Given the description of an element on the screen output the (x, y) to click on. 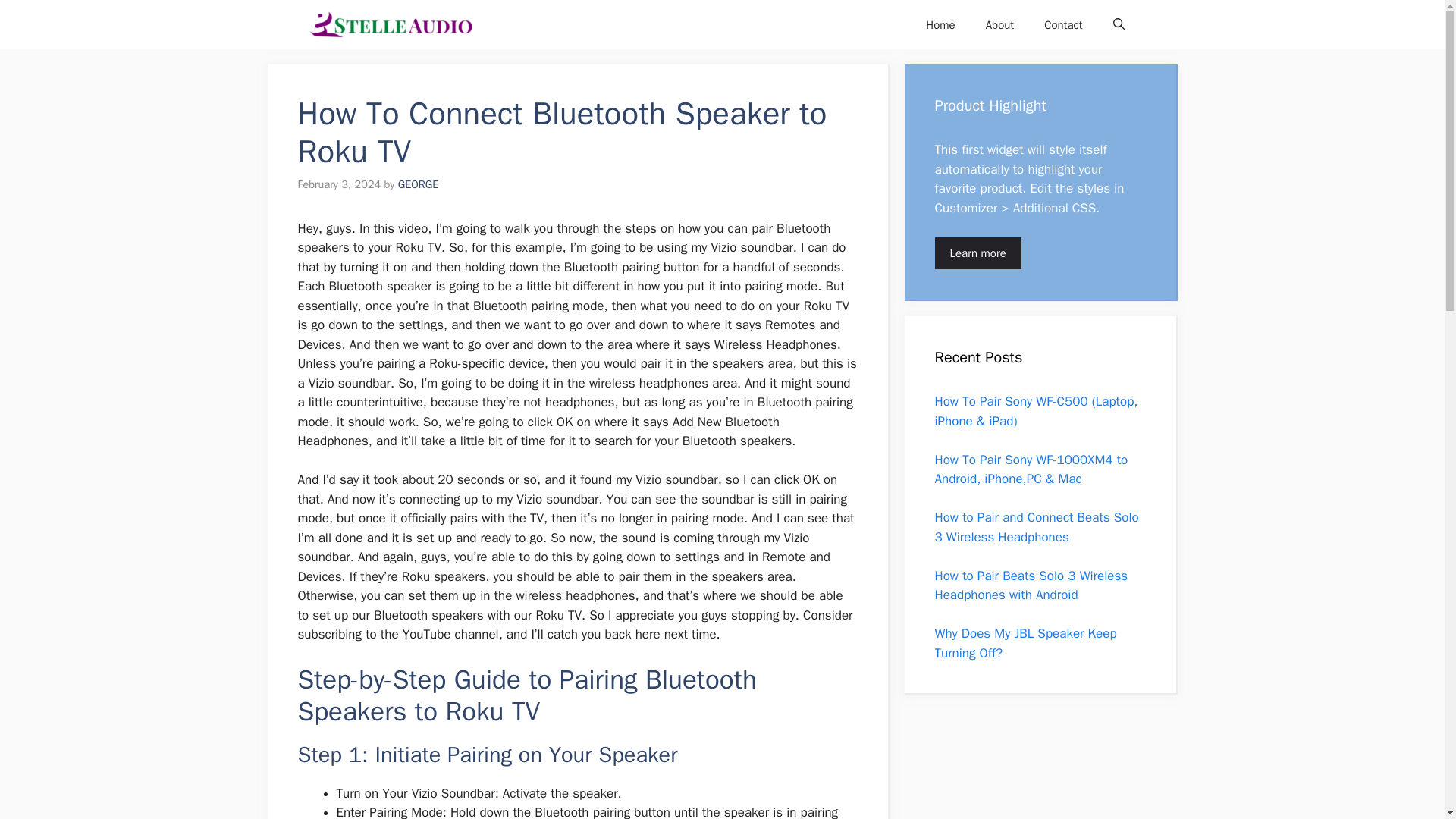
How to Pair and Connect Beats Solo 3 Wireless Headphones (1036, 527)
Home (940, 23)
GEORGE (418, 183)
About (1000, 23)
Contact (1063, 23)
Learn more (977, 252)
Stelle Audio (390, 24)
Stelle Audio (532, 24)
Why Does My JBL Speaker Keep Turning Off? (1025, 642)
How to Pair Beats Solo 3 Wireless Headphones with Android (1030, 584)
